Given the description of an element on the screen output the (x, y) to click on. 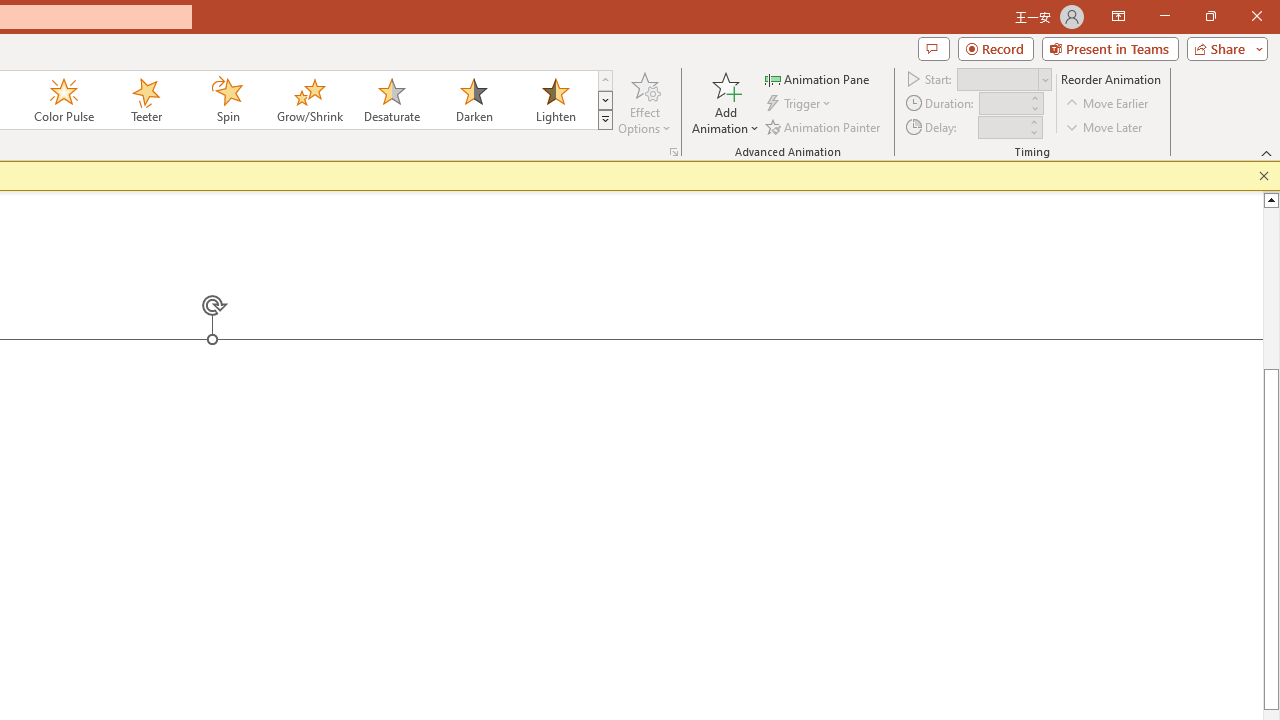
Color Pulse (63, 100)
Darken (473, 100)
Animation Pane (818, 78)
Animation Painter (824, 126)
Animation Delay (1002, 127)
Effect Options (644, 102)
Add Animation (725, 102)
